Given the description of an element on the screen output the (x, y) to click on. 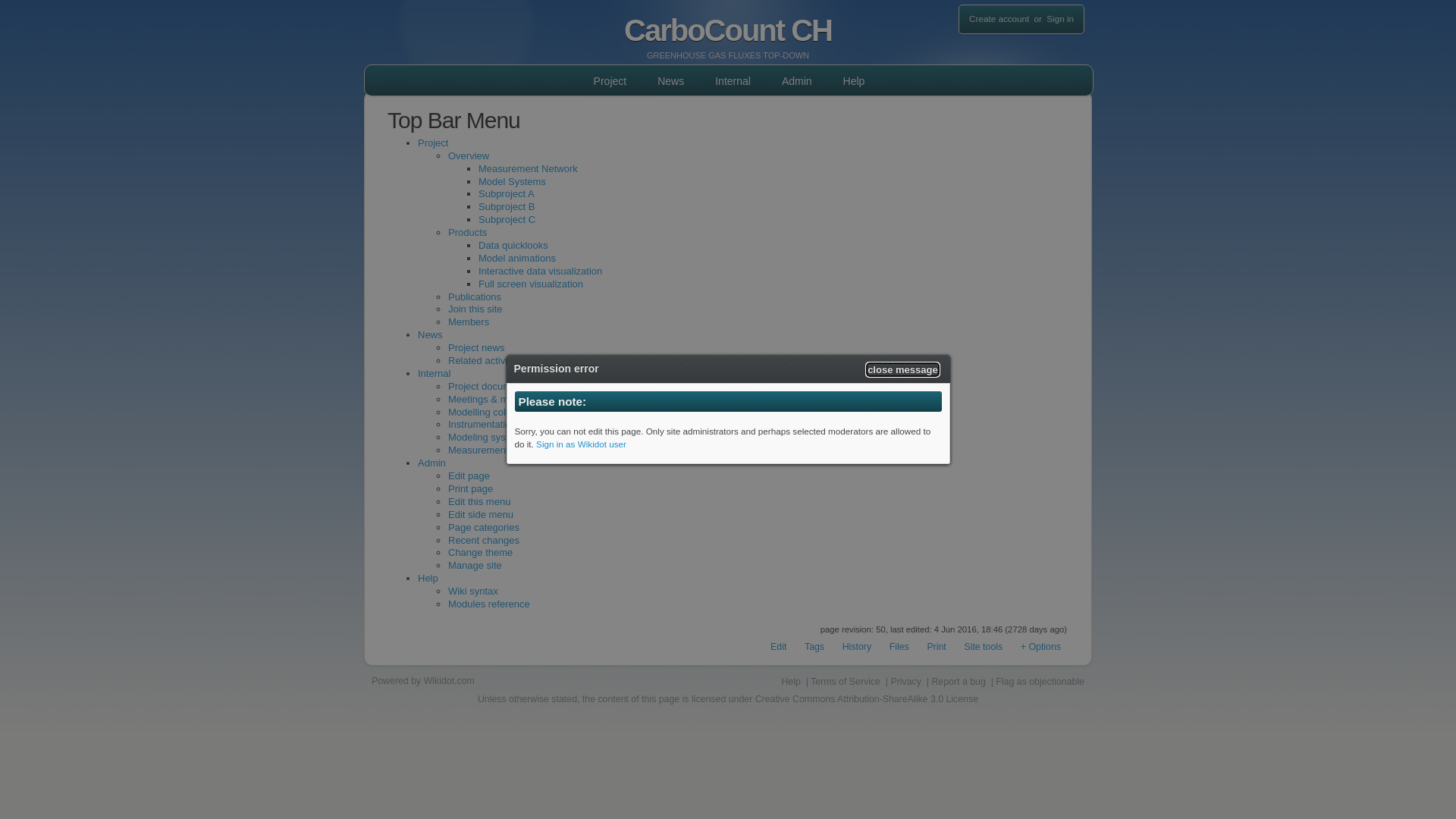
Create account Element type: text (998, 18)
Data quicklooks Element type: text (513, 245)
Publications Element type: text (474, 296)
Interactive data visualization Element type: text (540, 270)
Print page Element type: text (470, 488)
Project Element type: text (610, 81)
CarboCount CH Element type: text (727, 23)
Edit this menu Element type: text (479, 501)
Subproject C Element type: text (506, 219)
Project news Element type: text (476, 347)
Instrumentation & sites Element type: text (498, 423)
Related activities Element type: text (485, 360)
Products Element type: text (467, 232)
Edit page Element type: text (468, 475)
Subproject B Element type: text (506, 206)
Internal Element type: text (732, 81)
Privacy Element type: text (905, 681)
Edit side menu Element type: text (480, 514)
Site tools Element type: text (982, 646)
Model animations Element type: text (516, 257)
Modelling collaboration Element type: text (498, 411)
Page categories Element type: text (483, 527)
Modeling system details Element type: text (500, 436)
Overview Element type: text (468, 155)
close message Element type: text (902, 369)
History Element type: text (856, 646)
Members Element type: text (468, 321)
Help Element type: text (853, 81)
Meetings & minutes Element type: text (491, 398)
Flag as objectionable Element type: text (1039, 681)
Project documents Element type: text (489, 386)
Manage site Element type: text (475, 565)
Tags Element type: text (814, 646)
Change theme Element type: text (480, 552)
News Element type: text (670, 81)
Recent changes Element type: text (483, 539)
Admin Element type: text (431, 462)
Measurement data Element type: text (489, 449)
Model Systems Element type: text (512, 181)
+ Options Element type: text (1040, 646)
Help Element type: text (790, 681)
Files Element type: text (899, 646)
Wikidot.com Element type: text (448, 680)
Report a bug Element type: text (958, 681)
Wiki syntax Element type: text (473, 590)
Edit Element type: text (778, 646)
Creative Commons Attribution-ShareAlike 3.0 License Element type: text (866, 698)
Print Element type: text (935, 646)
Project Element type: text (432, 142)
Subproject A Element type: text (506, 193)
News Element type: text (429, 334)
Admin Element type: text (796, 81)
Measurement Network Element type: text (527, 168)
Help Element type: text (427, 577)
Sign in Element type: text (1060, 18)
Full screen visualization Element type: text (530, 283)
Internal Element type: text (433, 373)
Terms of Service Element type: text (845, 681)
Modules reference Element type: text (489, 603)
Sign in as Wikidot user Element type: text (581, 443)
Join this site Element type: text (475, 308)
